Given the description of an element on the screen output the (x, y) to click on. 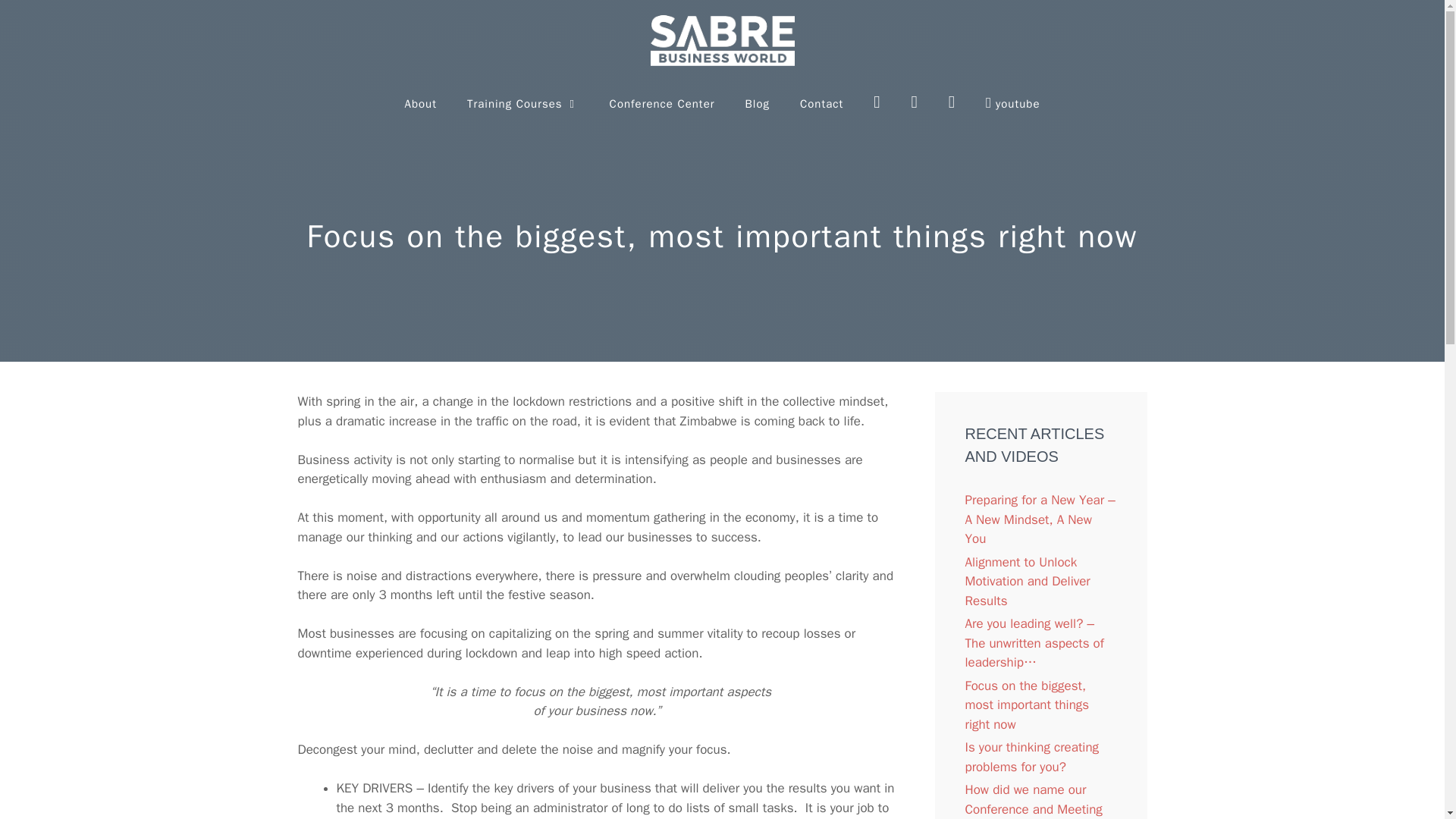
Blog (757, 103)
Alignment to Unlock Motivation and Deliver Results (1026, 581)
Focus on the biggest, most important things right now (1026, 705)
youtube (1013, 103)
Training Courses (522, 103)
About (420, 103)
Contact (821, 103)
Conference Center (662, 103)
